Given the description of an element on the screen output the (x, y) to click on. 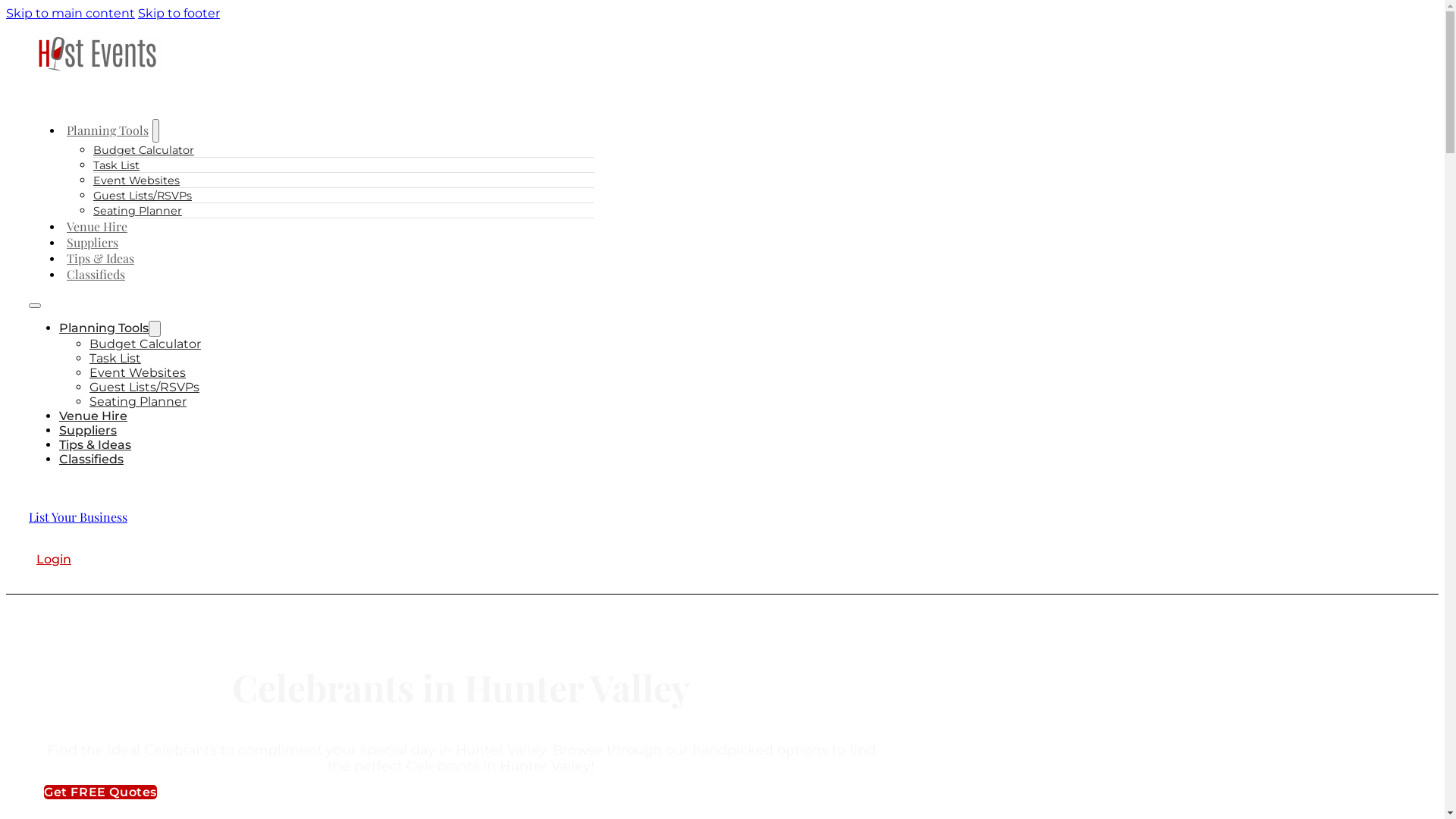
Classifieds Element type: text (95, 273)
Event Websites Element type: text (136, 180)
Tips & Ideas Element type: text (100, 257)
Venue Hire Element type: text (93, 415)
Budget Calculator Element type: text (143, 149)
Tips & Ideas Element type: text (95, 444)
Seating Planner Element type: text (137, 210)
Suppliers Element type: text (92, 242)
Task List Element type: text (115, 358)
Planning Tools Element type: text (103, 327)
Suppliers Element type: text (87, 430)
Venue Hire Element type: text (96, 226)
Seating Planner Element type: text (137, 401)
Login Element type: text (53, 559)
Guest Lists/RSVPs Element type: text (142, 195)
Classifieds Element type: text (91, 458)
Task List Element type: text (116, 165)
Guest Lists/RSVPs Element type: text (144, 386)
List Your Business Element type: text (77, 516)
Skip to footer Element type: text (178, 13)
Planning Tools Element type: text (107, 129)
Skip to main content Element type: text (70, 13)
Event Websites Element type: text (137, 372)
Budget Calculator Element type: text (144, 343)
